Given the description of an element on the screen output the (x, y) to click on. 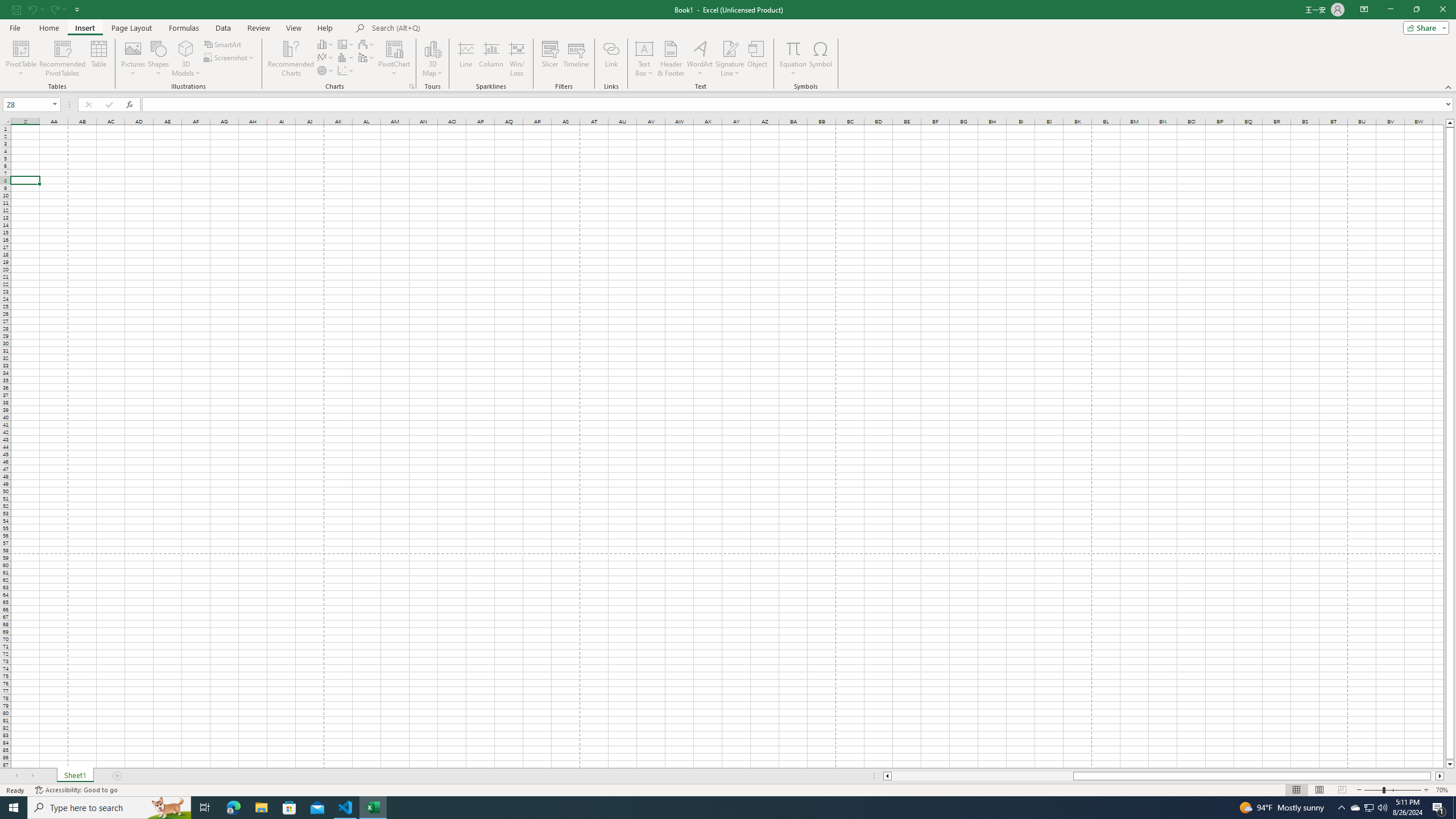
PivotChart (394, 48)
Insert Line or Area Chart (325, 56)
Text Box (643, 58)
Object... (757, 58)
Insert Scatter (X, Y) or Bubble Chart (346, 69)
WordArt (699, 58)
Recommended Charts (411, 85)
Column (491, 58)
